Given the description of an element on the screen output the (x, y) to click on. 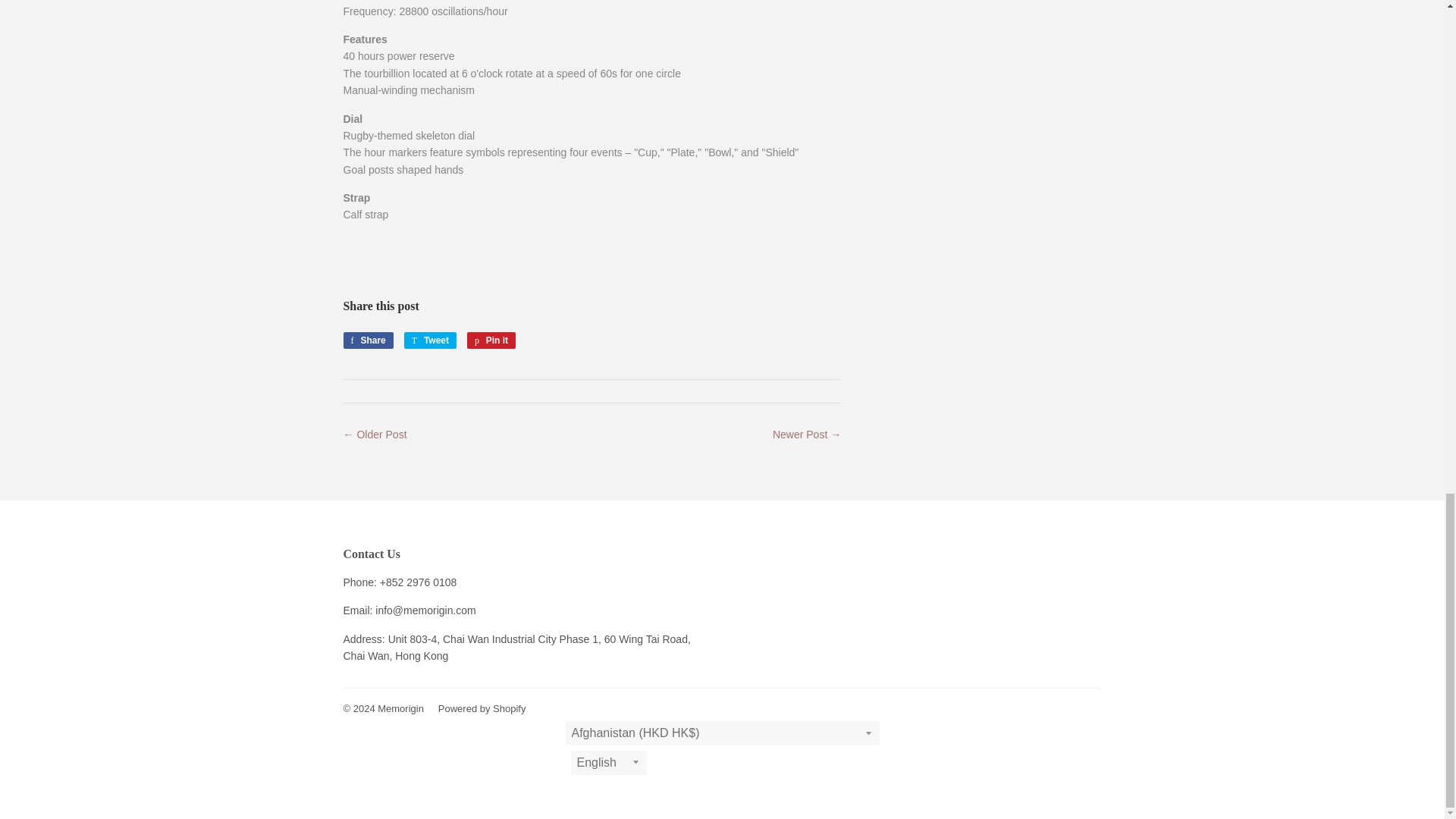
Memorigin (400, 708)
Pin on Pinterest (491, 340)
Powered by Shopify (481, 708)
Tweet on Twitter (367, 340)
Share on Facebook (430, 340)
